Given the description of an element on the screen output the (x, y) to click on. 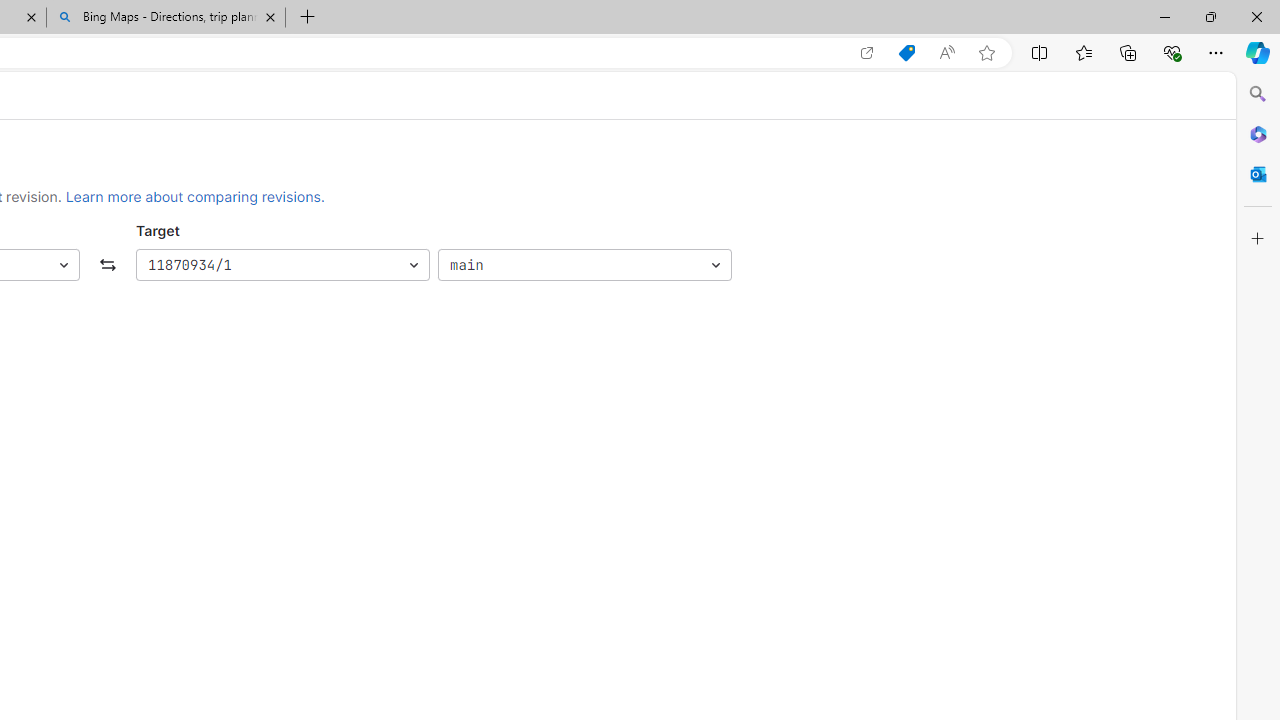
Shopping in Microsoft Edge (906, 53)
